Given the description of an element on the screen output the (x, y) to click on. 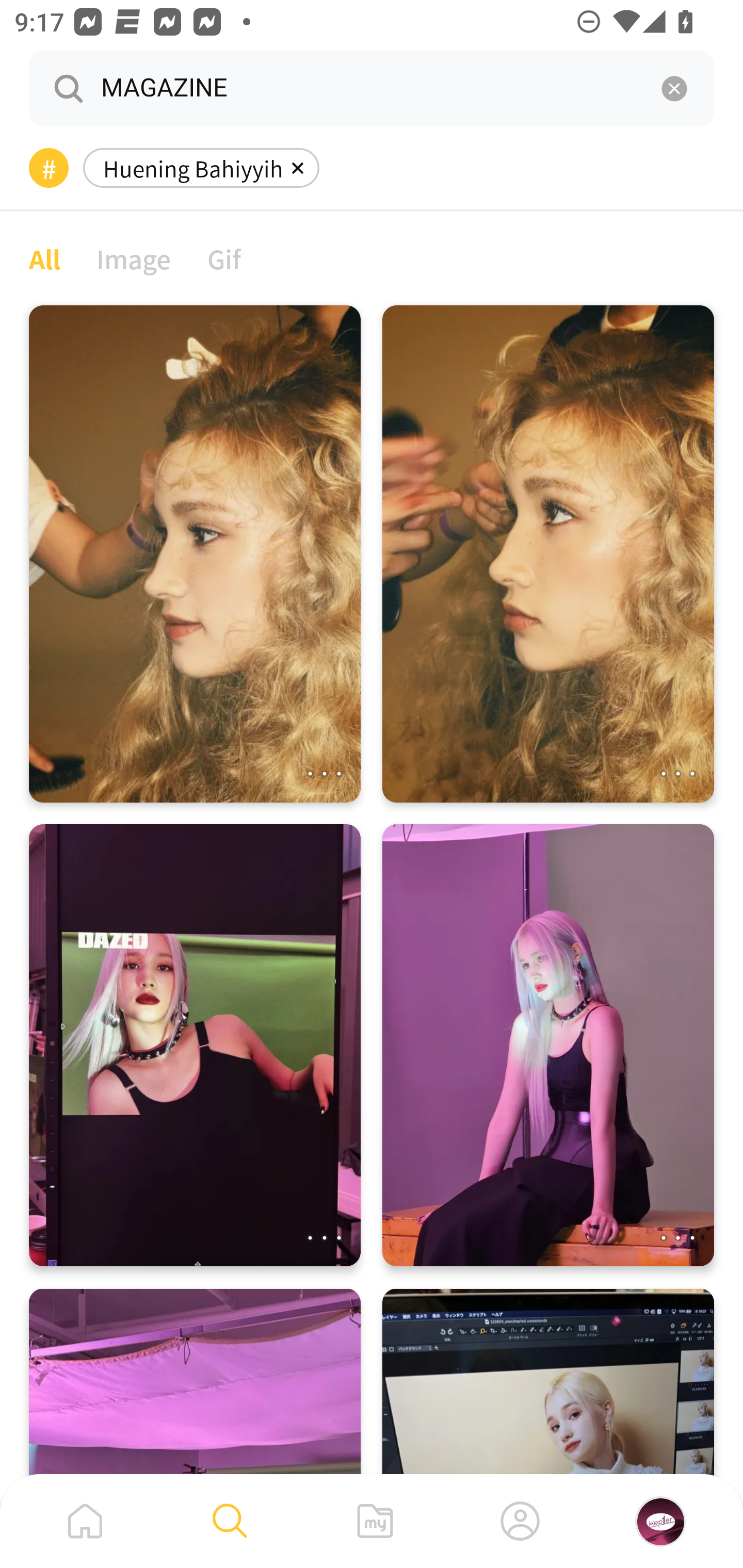
All (44, 257)
Image (133, 257)
Gif (223, 257)
